Given the description of an element on the screen output the (x, y) to click on. 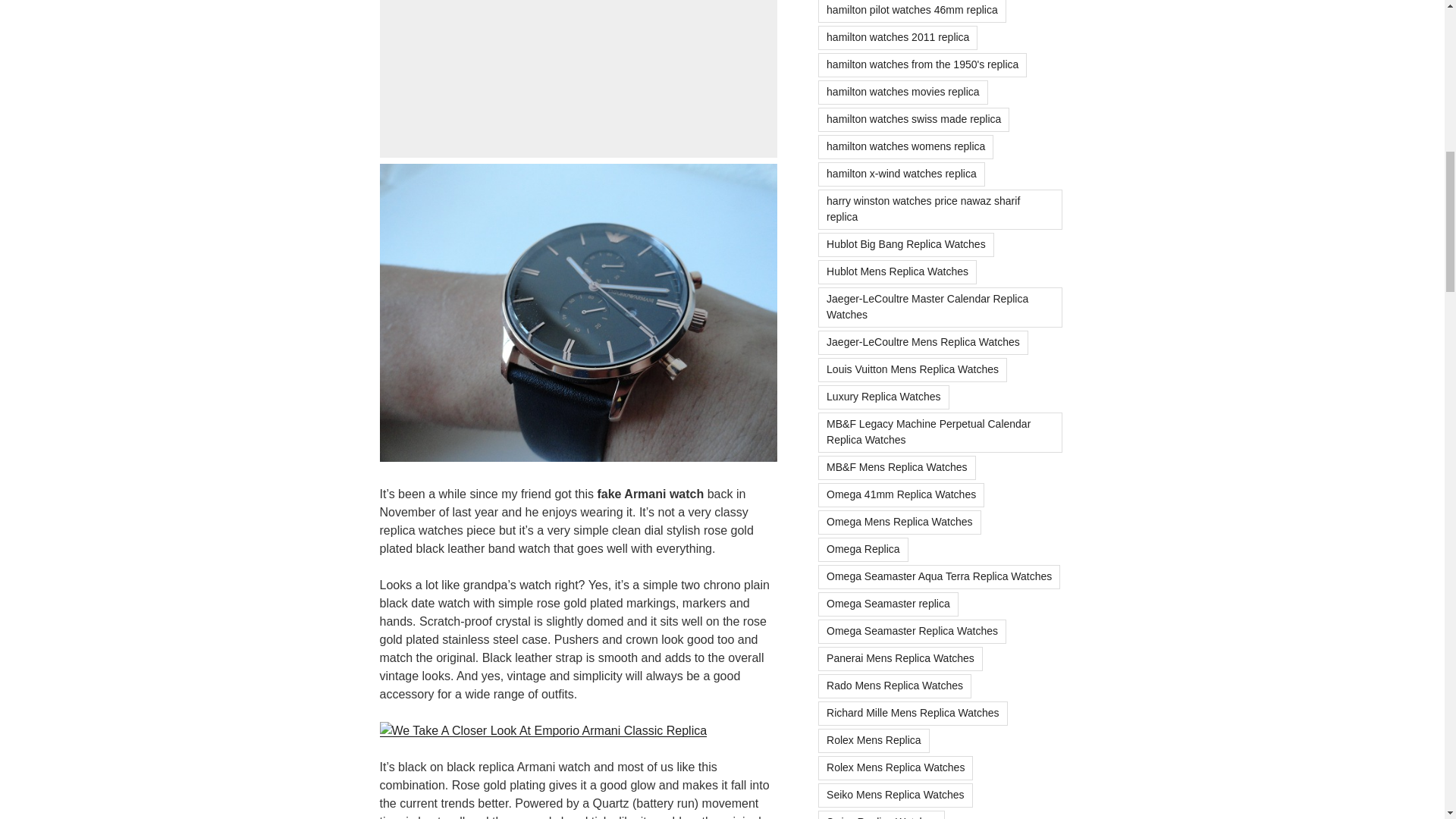
hamilton watches from the 1950's replica (922, 64)
hamilton pilot watches 46mm replica (912, 11)
Jaeger-LeCoultre Mens Replica Watches (922, 342)
Omega Replica (863, 549)
Omega Mens Replica Watches (898, 522)
Omega 41mm Replica Watches (901, 494)
Louis Vuitton Mens Replica Watches (912, 369)
Jaeger-LeCoultre Master Calendar Replica Watches (939, 307)
hamilton watches movies replica (903, 92)
hamilton x-wind watches replica (901, 174)
